Given the description of an element on the screen output the (x, y) to click on. 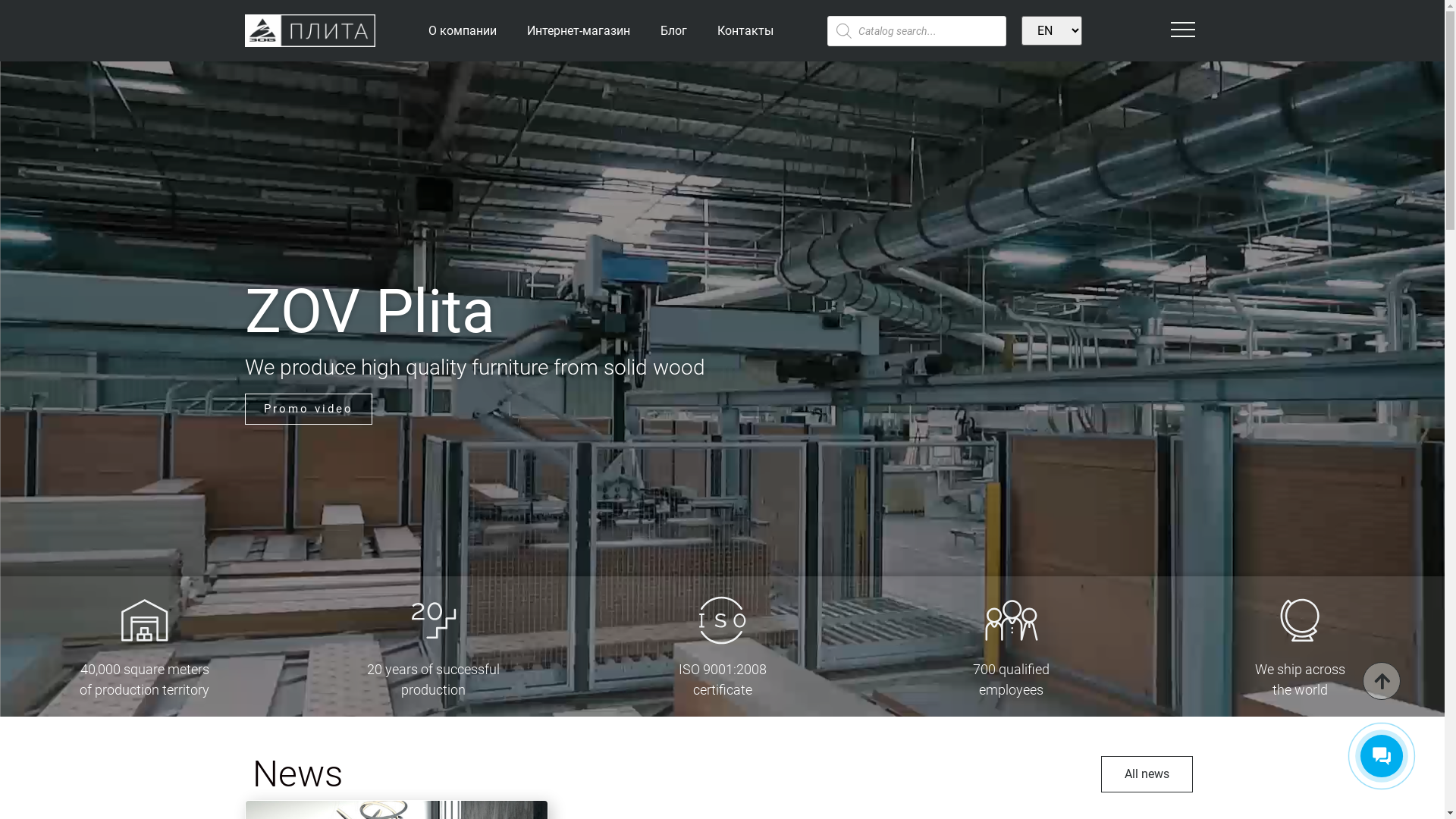
Promo video Element type: text (307, 407)
All news Element type: text (1146, 774)
